Given the description of an element on the screen output the (x, y) to click on. 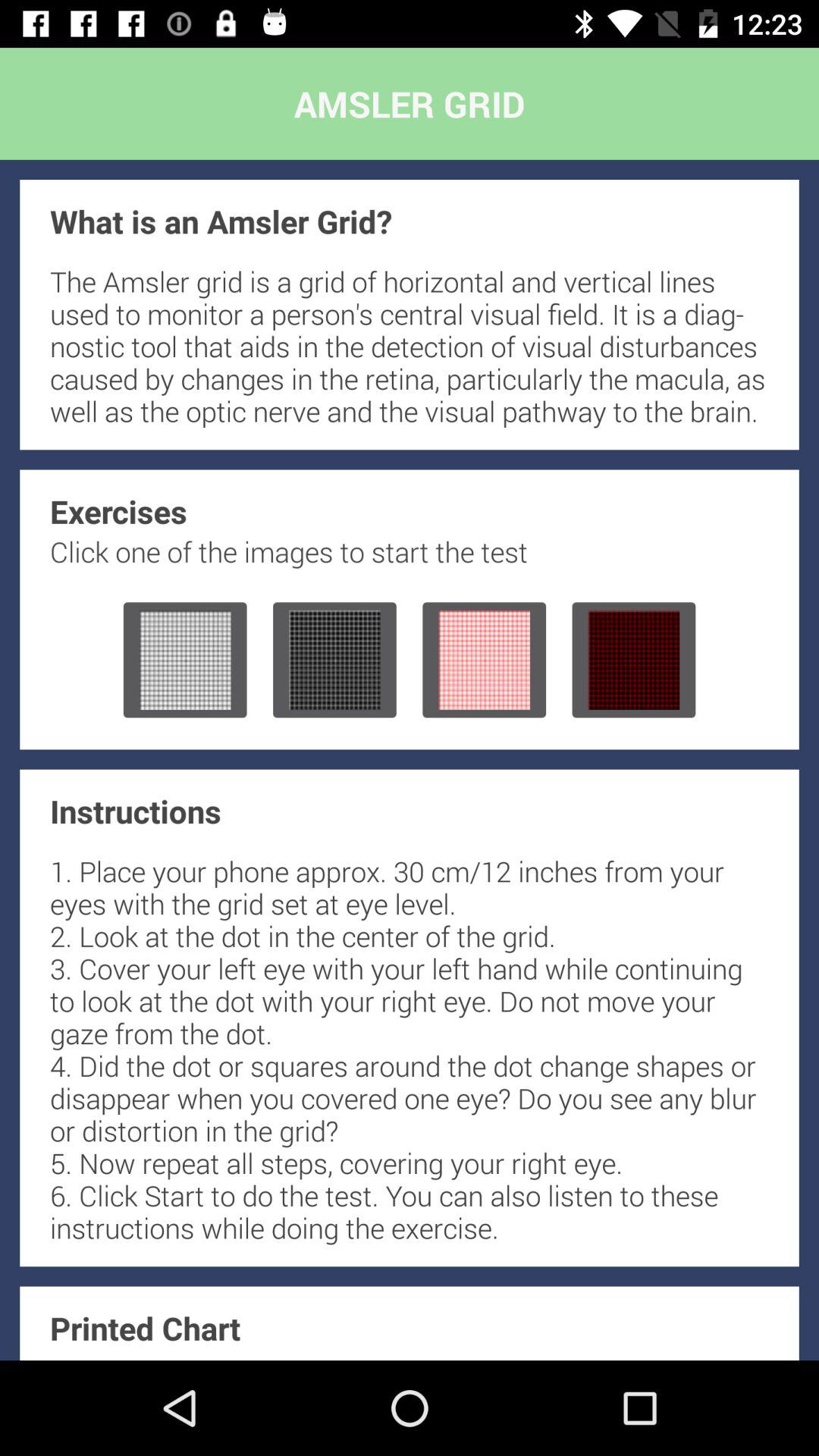
it a choice for a gray image (334, 659)
